Given the description of an element on the screen output the (x, y) to click on. 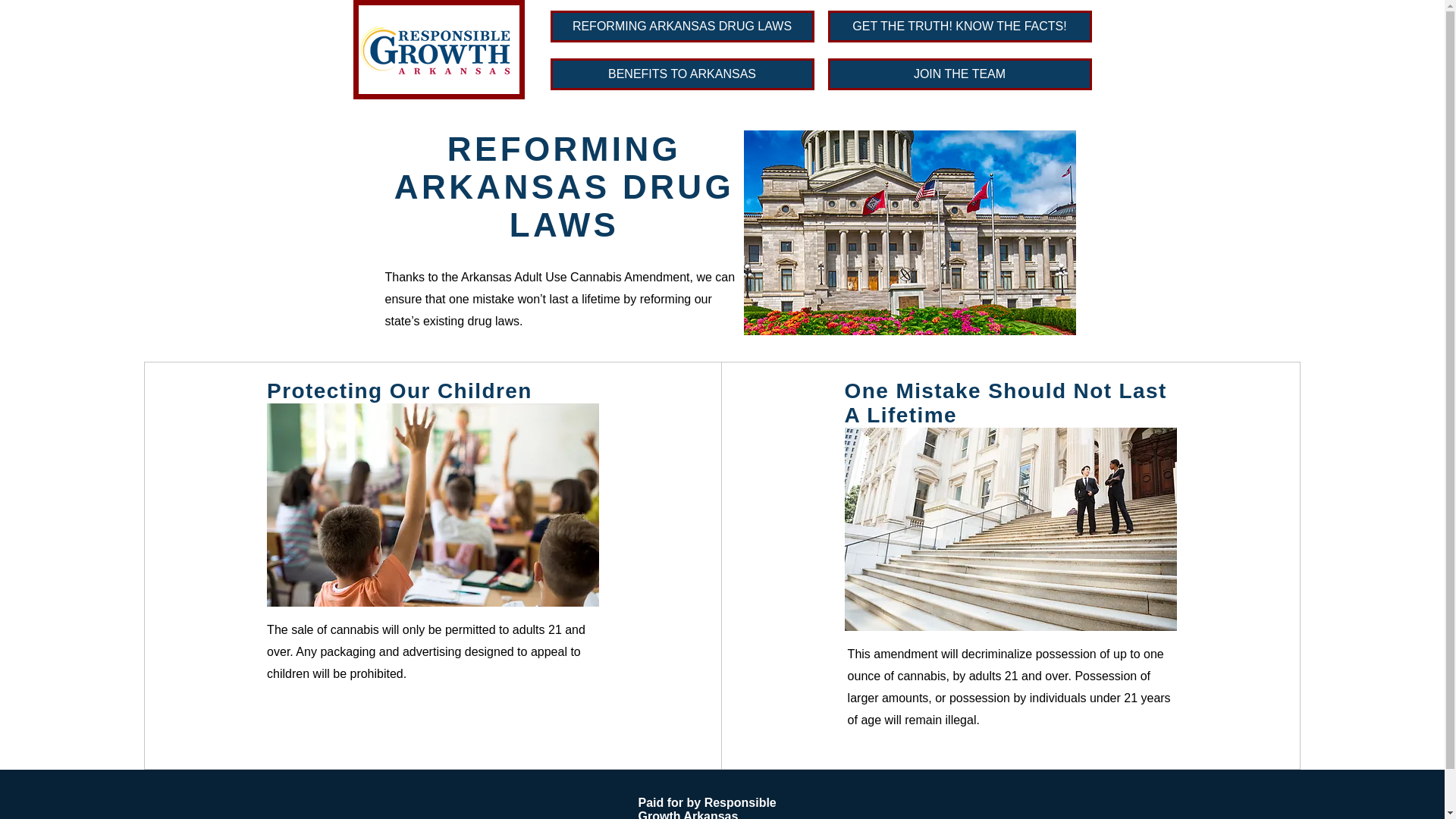
BENEFITS TO ARKANSAS (681, 74)
JOIN THE TEAM (960, 74)
GET THE TRUTH! KNOW THE FACTS! (960, 26)
REFORMING ARKANSAS DRUG LAWS (681, 26)
